Given the description of an element on the screen output the (x, y) to click on. 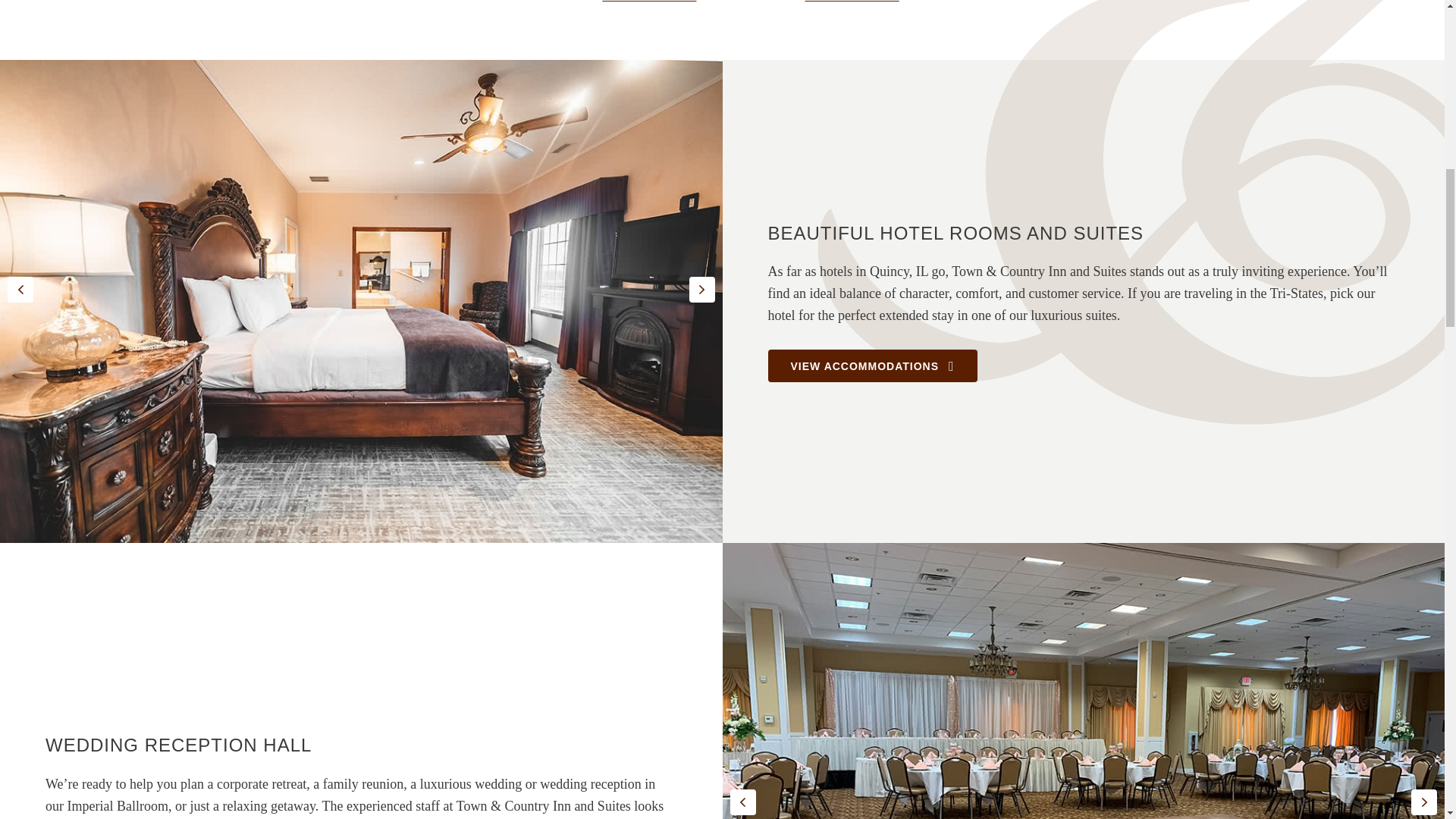
855-214-0400 (852, 1)
217-214-0400 (648, 1)
VIEW ACCOMMODATIONS (871, 365)
